Given the description of an element on the screen output the (x, y) to click on. 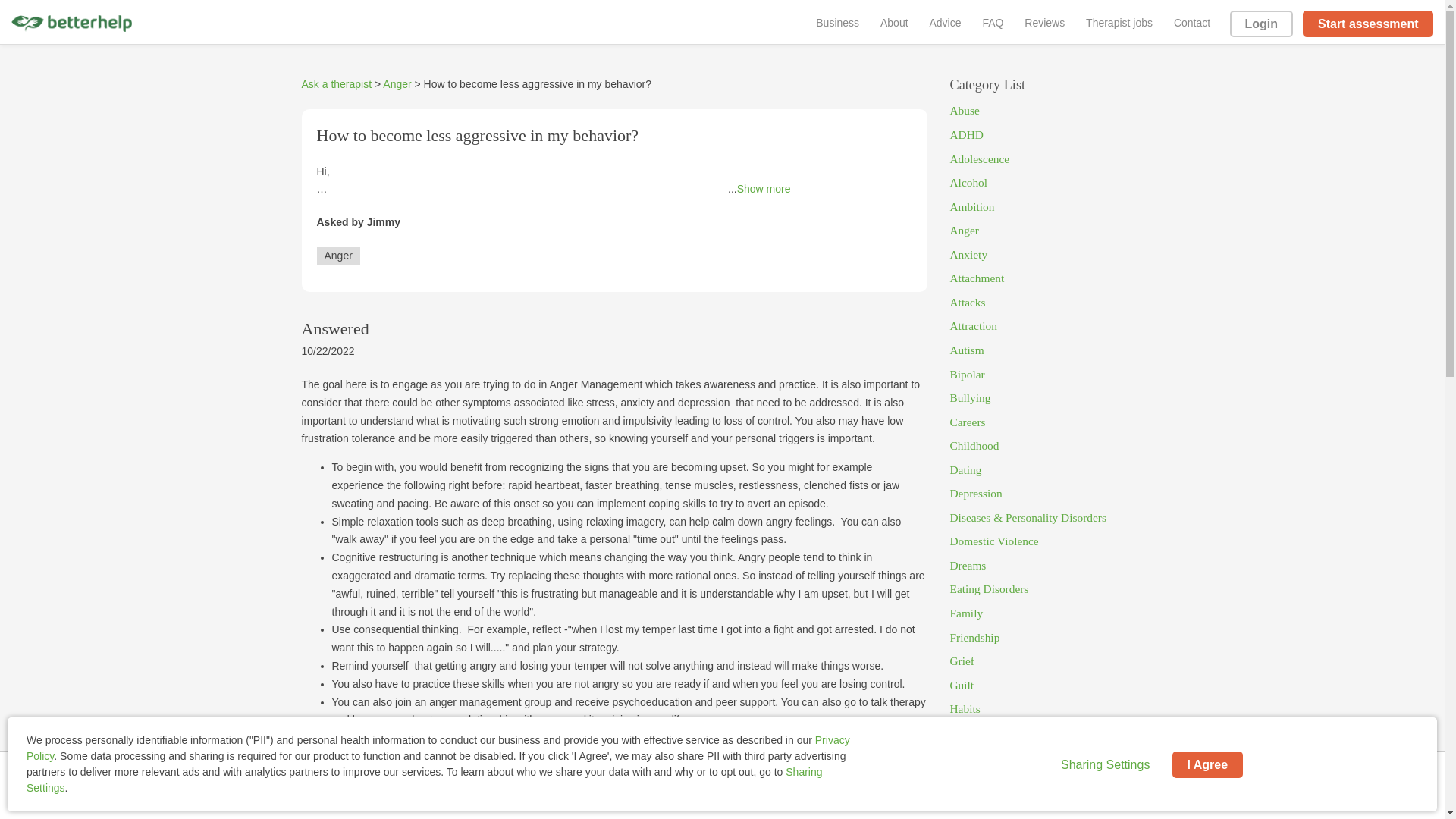
Careers (1045, 422)
Attacks (1045, 302)
Anger (396, 83)
Childhood (1045, 445)
Sharing Settings (1104, 764)
Start assessment (1367, 23)
Attraction (1045, 325)
FAQ (991, 22)
Adolescence (1045, 158)
Anger (1045, 230)
Login (1261, 23)
Bullying (1045, 397)
Depression (1045, 493)
Autism (1045, 350)
Anxiety (1045, 254)
